Given the description of an element on the screen output the (x, y) to click on. 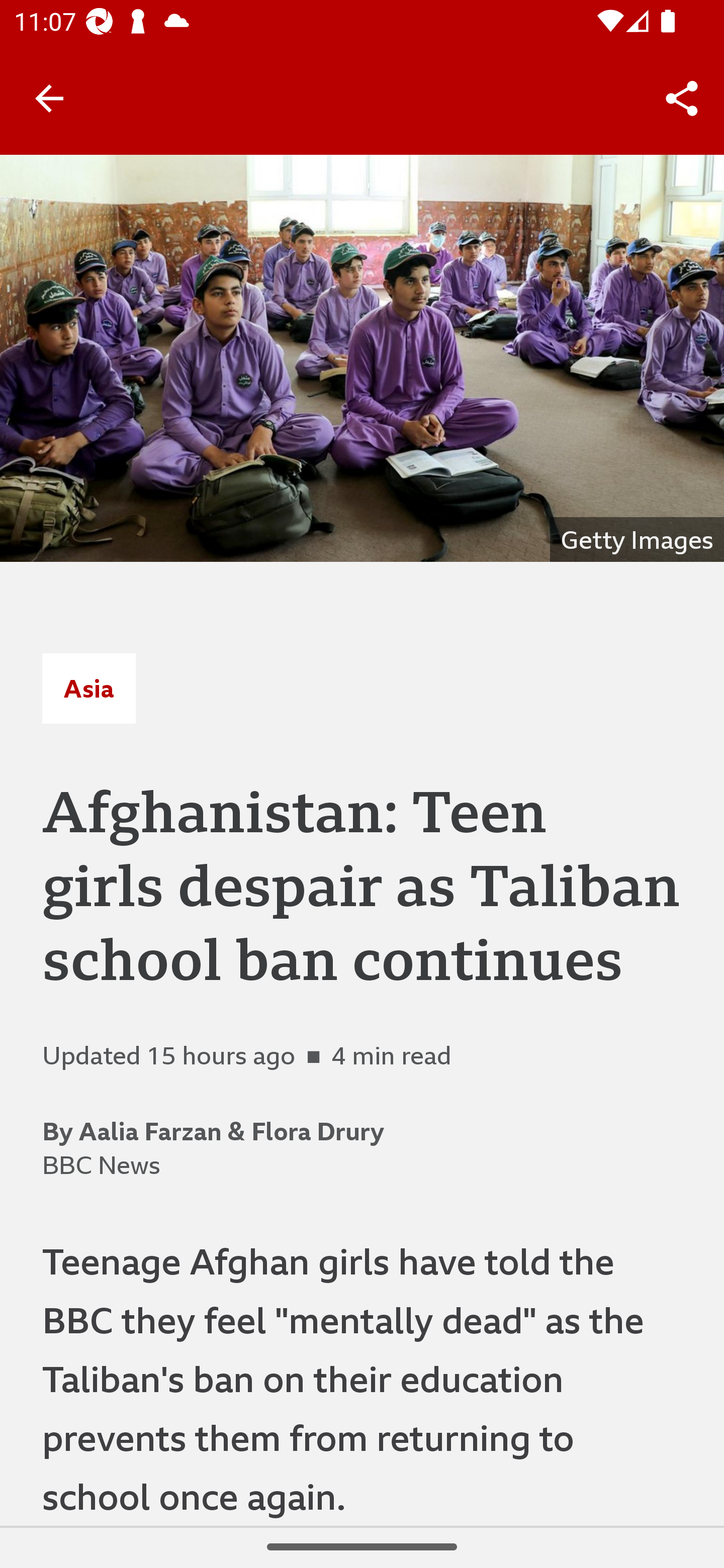
Back (49, 97)
Share (681, 98)
Asia (88, 688)
